Given the description of an element on the screen output the (x, y) to click on. 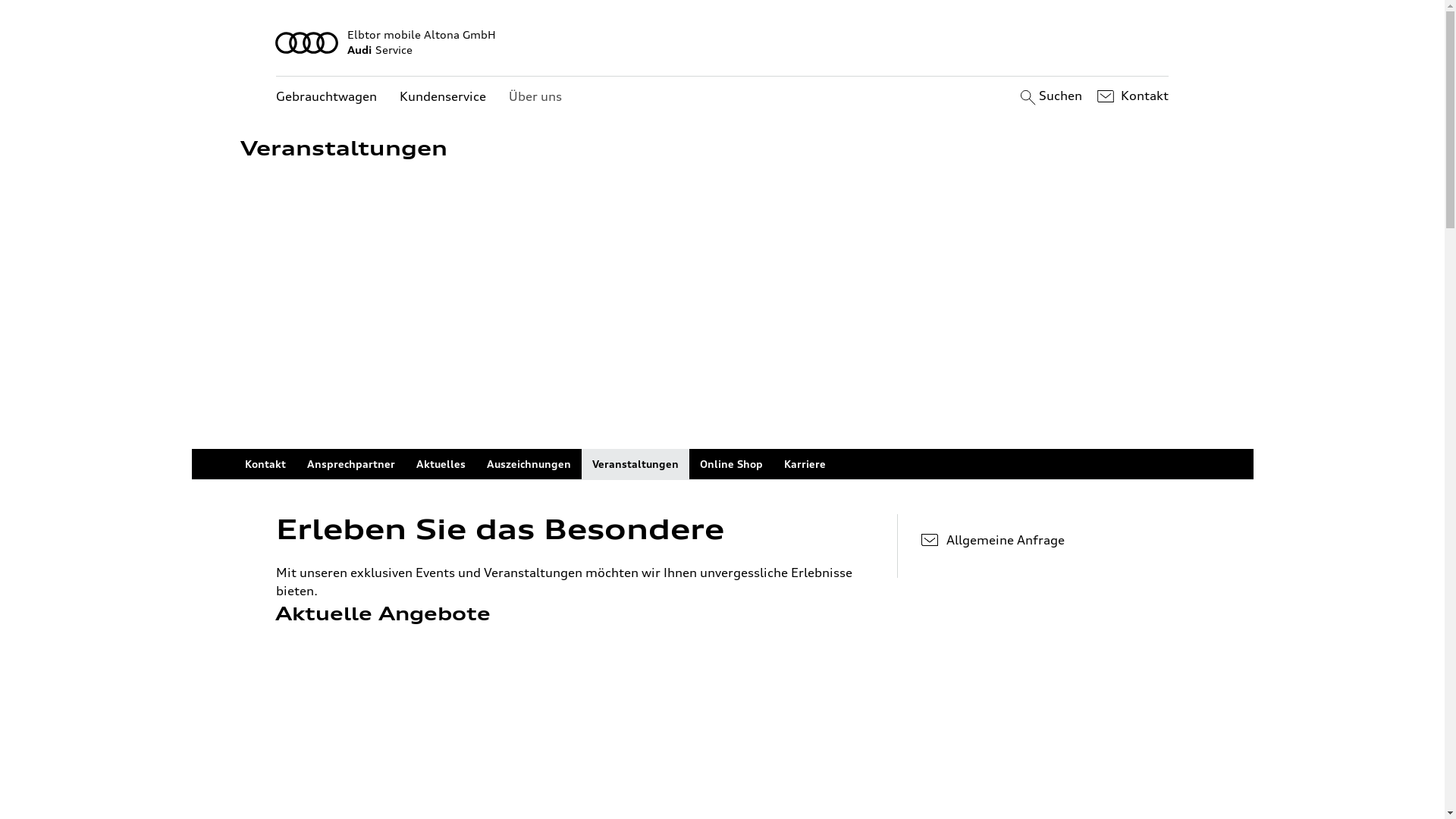
Allgemeine Anfrage Element type: text (1044, 539)
Kontakt Element type: text (264, 463)
Auszeichnungen Element type: text (528, 463)
Ansprechpartner Element type: text (349, 463)
Veranstaltungen Element type: text (634, 463)
Aktuelles Element type: text (439, 463)
Kundenservice Element type: text (442, 96)
Elbtor mobile Altona GmbH
AudiService Element type: text (722, 42)
Kontakt Element type: text (1130, 96)
Suchen Element type: text (1049, 96)
Online Shop Element type: text (730, 463)
Gebrauchtwagen Element type: text (326, 96)
Karriere Element type: text (804, 463)
